Given the description of an element on the screen output the (x, y) to click on. 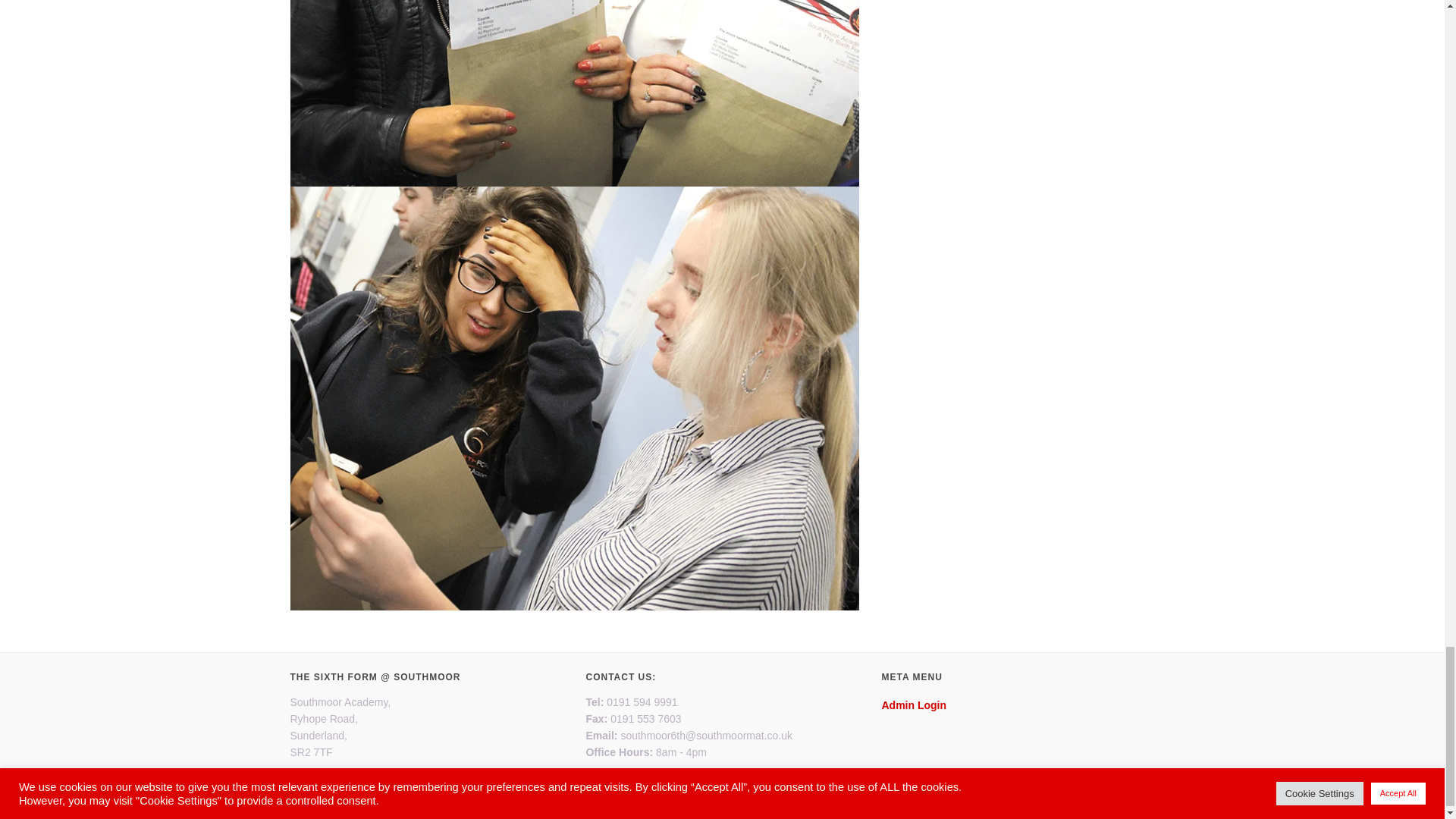
Admin Login (913, 705)
